Given the description of an element on the screen output the (x, y) to click on. 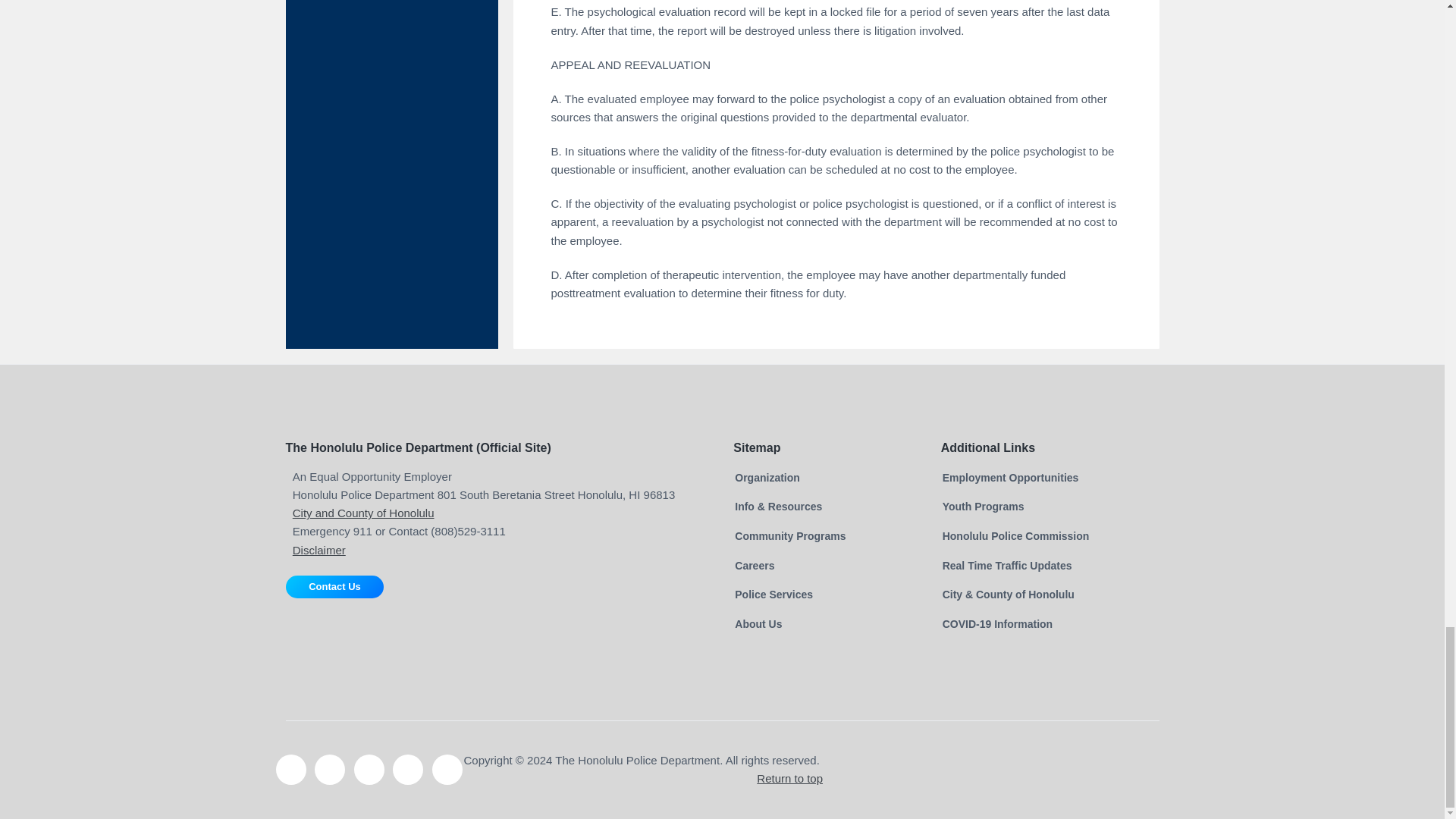
Organization (767, 477)
Honolulu Police Commission (1015, 536)
About Us (758, 624)
Police Services (773, 594)
Employment Opportunities (1010, 477)
Real Time Traffic Updates (1006, 565)
Contact Us (334, 586)
Careers (754, 565)
Community Programs (790, 536)
Youth Programs (983, 506)
City and County of Honolulu (362, 512)
Disclaimer (319, 549)
